Given the description of an element on the screen output the (x, y) to click on. 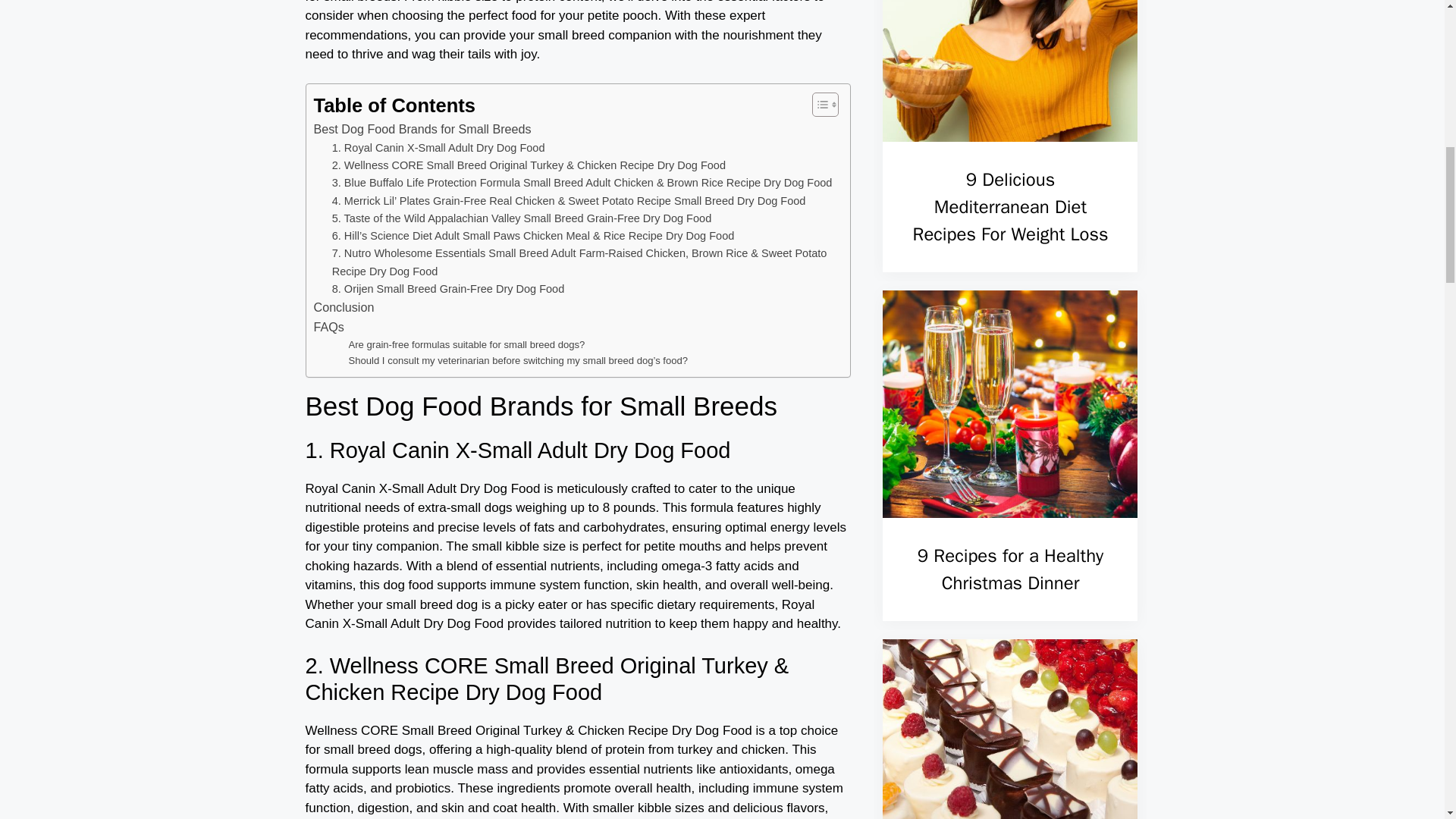
1. Royal Canin X-Small Adult Dry Dog Food (437, 148)
8. Orijen Small Breed Grain-Free Dry Dog Food (447, 289)
FAQs (328, 327)
Are grain-free formulas suitable for small breed dogs? (467, 344)
8. Orijen Small Breed Grain-Free Dry Dog Food (447, 289)
Conclusion (344, 307)
FAQs (328, 327)
Conclusion (344, 307)
